Given the description of an element on the screen output the (x, y) to click on. 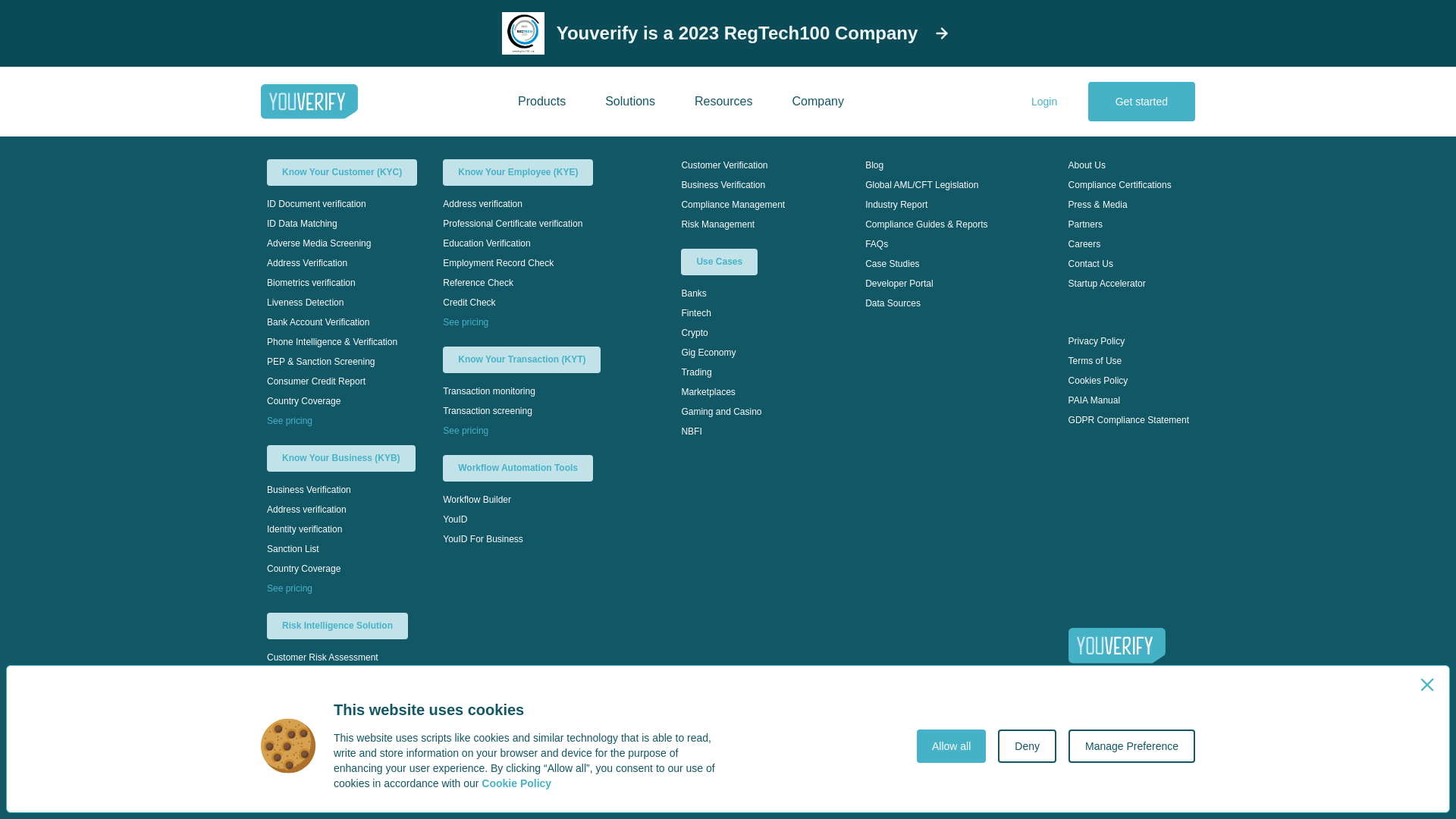
on (733, 6)
